Given the description of an element on the screen output the (x, y) to click on. 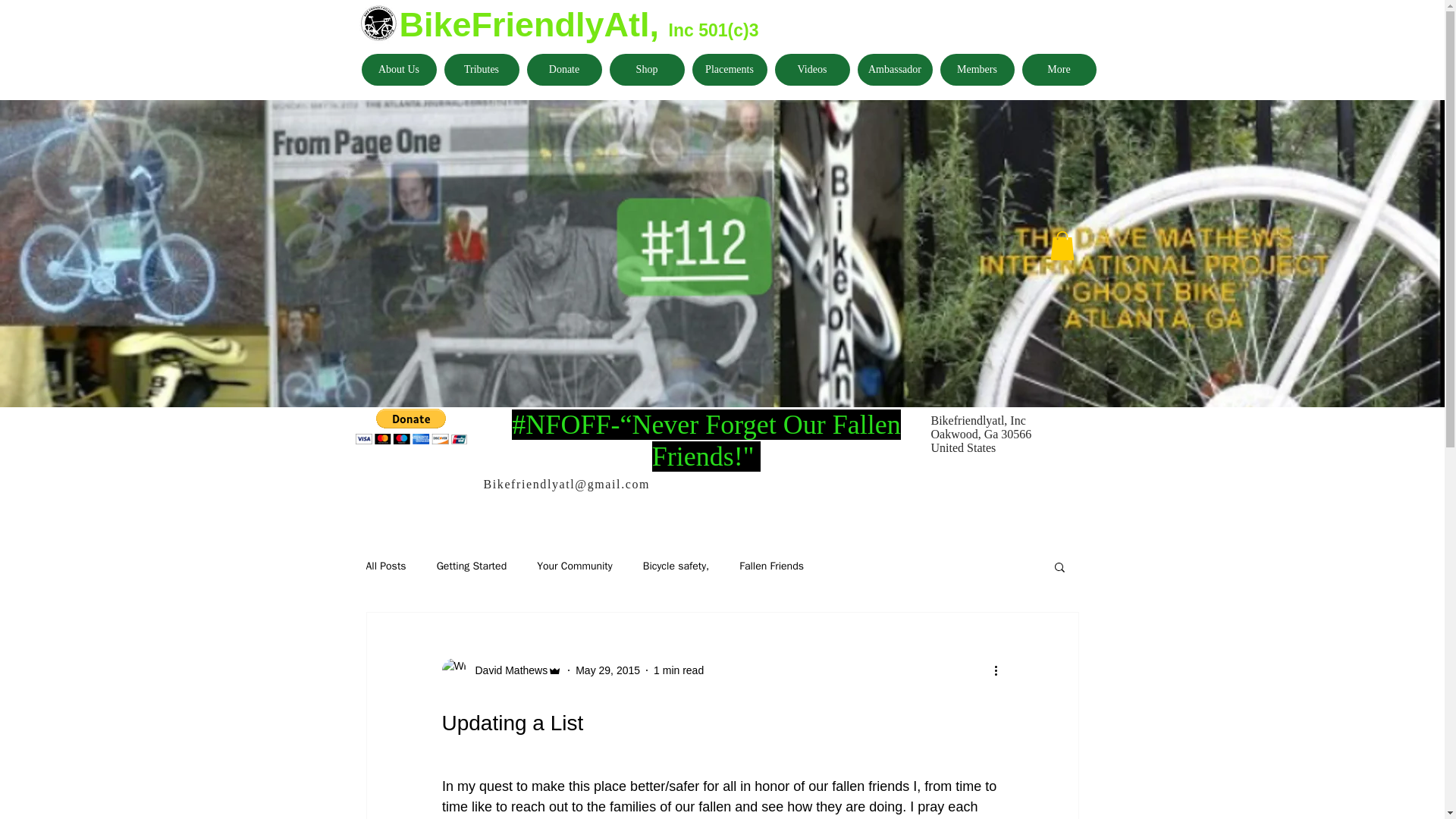
Getting Started (471, 566)
David Mathews (501, 670)
Tributes (481, 69)
Donate (563, 69)
Members (977, 69)
1 min read (678, 670)
Shop (647, 69)
Log In (1037, 213)
Bicycle safety, (676, 566)
Fallen Friends (771, 566)
